Given the description of an element on the screen output the (x, y) to click on. 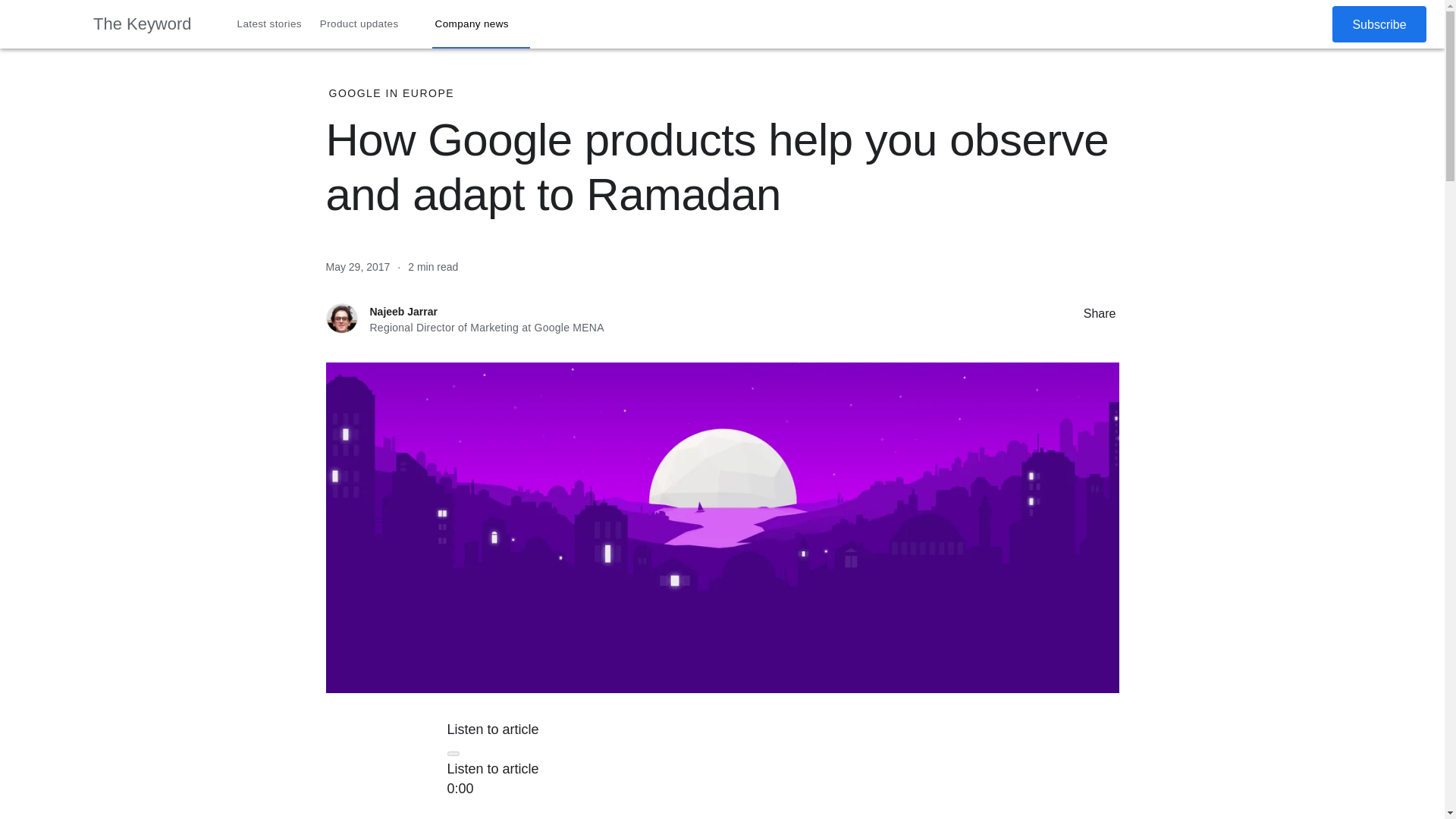
Product updates (368, 24)
Search (1274, 23)
The Keyword (142, 24)
Secondary menu (1307, 23)
Google (46, 24)
Latest stories (269, 24)
Share (1068, 313)
